Given the description of an element on the screen output the (x, y) to click on. 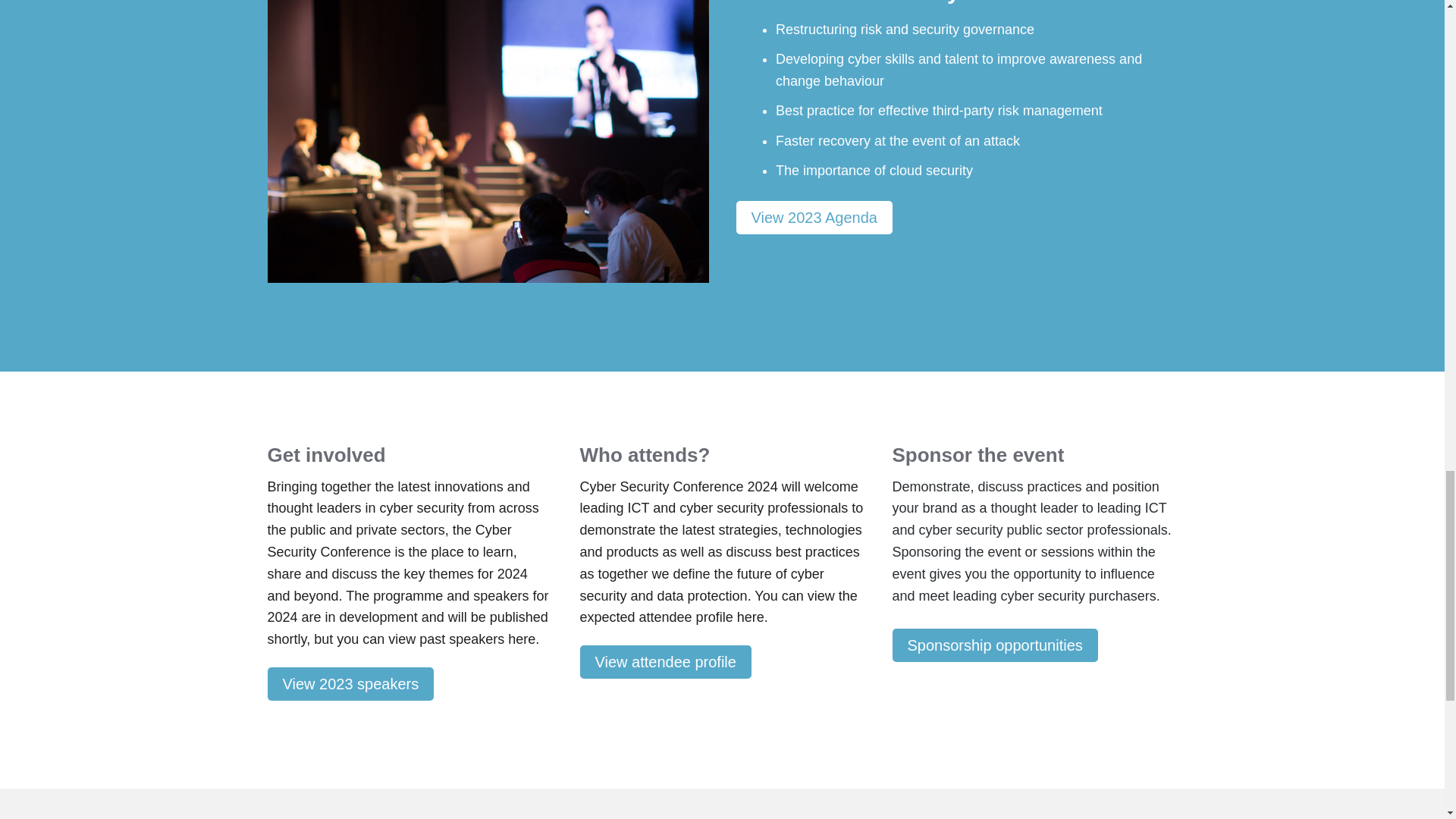
View 2023 Agenda (813, 217)
View attendee profile (665, 661)
View 2023 speakers (349, 684)
Sponsorship opportunities (994, 644)
